Given the description of an element on the screen output the (x, y) to click on. 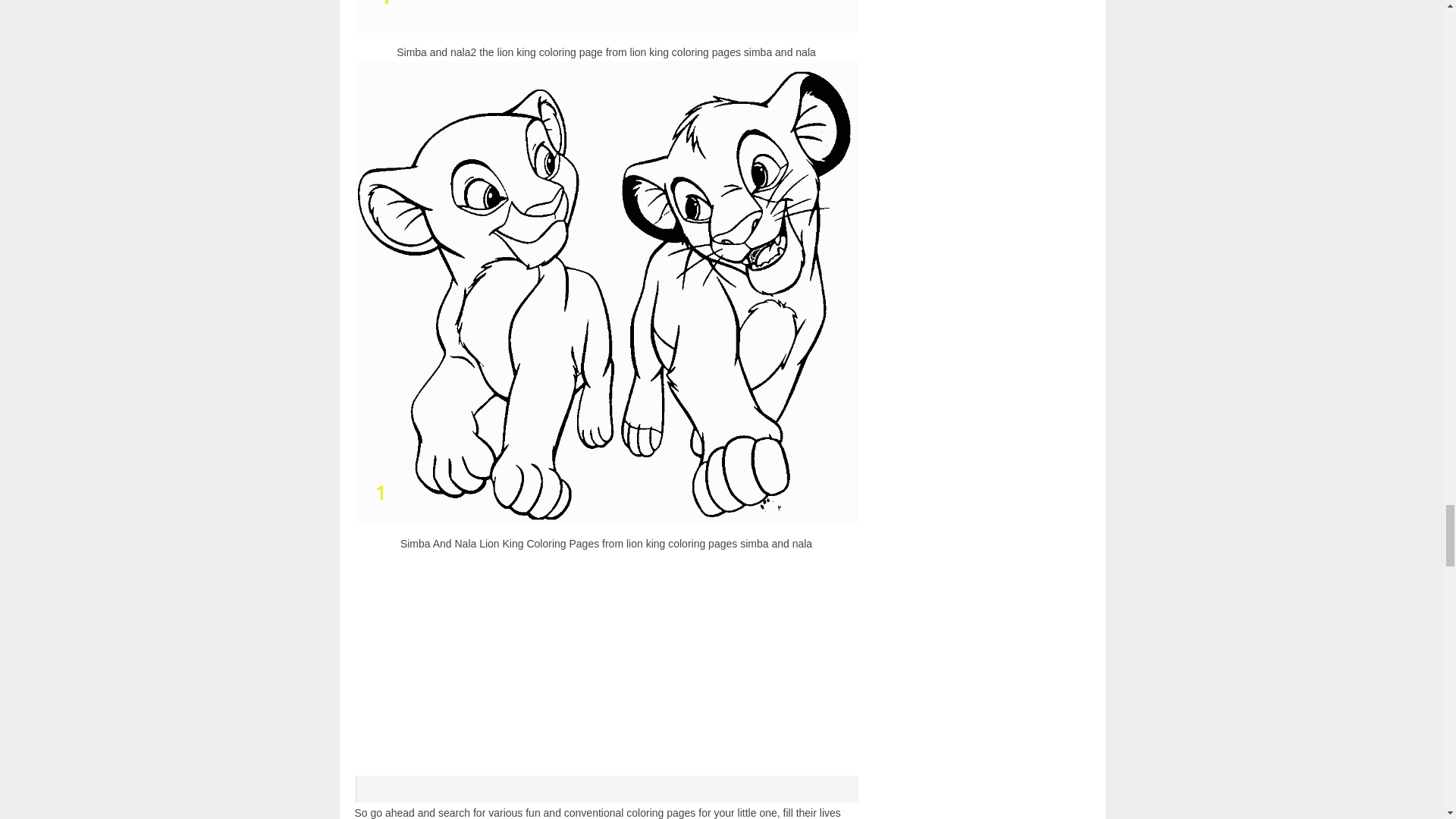
Simba and nala2 the lion king coloring page (607, 16)
